Given the description of an element on the screen output the (x, y) to click on. 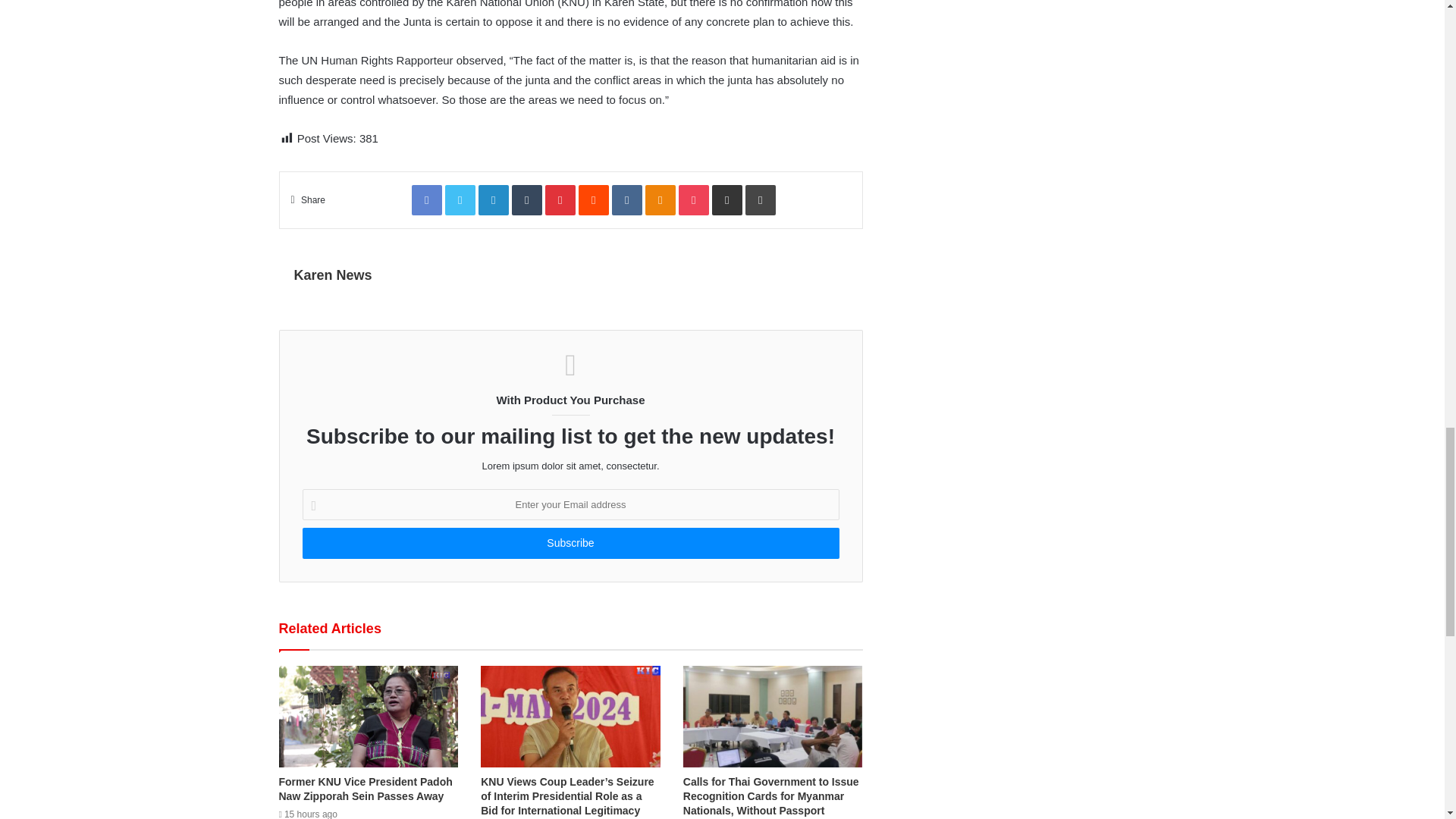
Twitter (460, 200)
LinkedIn (493, 200)
VKontakte (626, 200)
Facebook (427, 200)
Subscribe (569, 542)
Pinterest (559, 200)
Odnoklassniki (660, 200)
Reddit (593, 200)
Tumblr (526, 200)
